Given the description of an element on the screen output the (x, y) to click on. 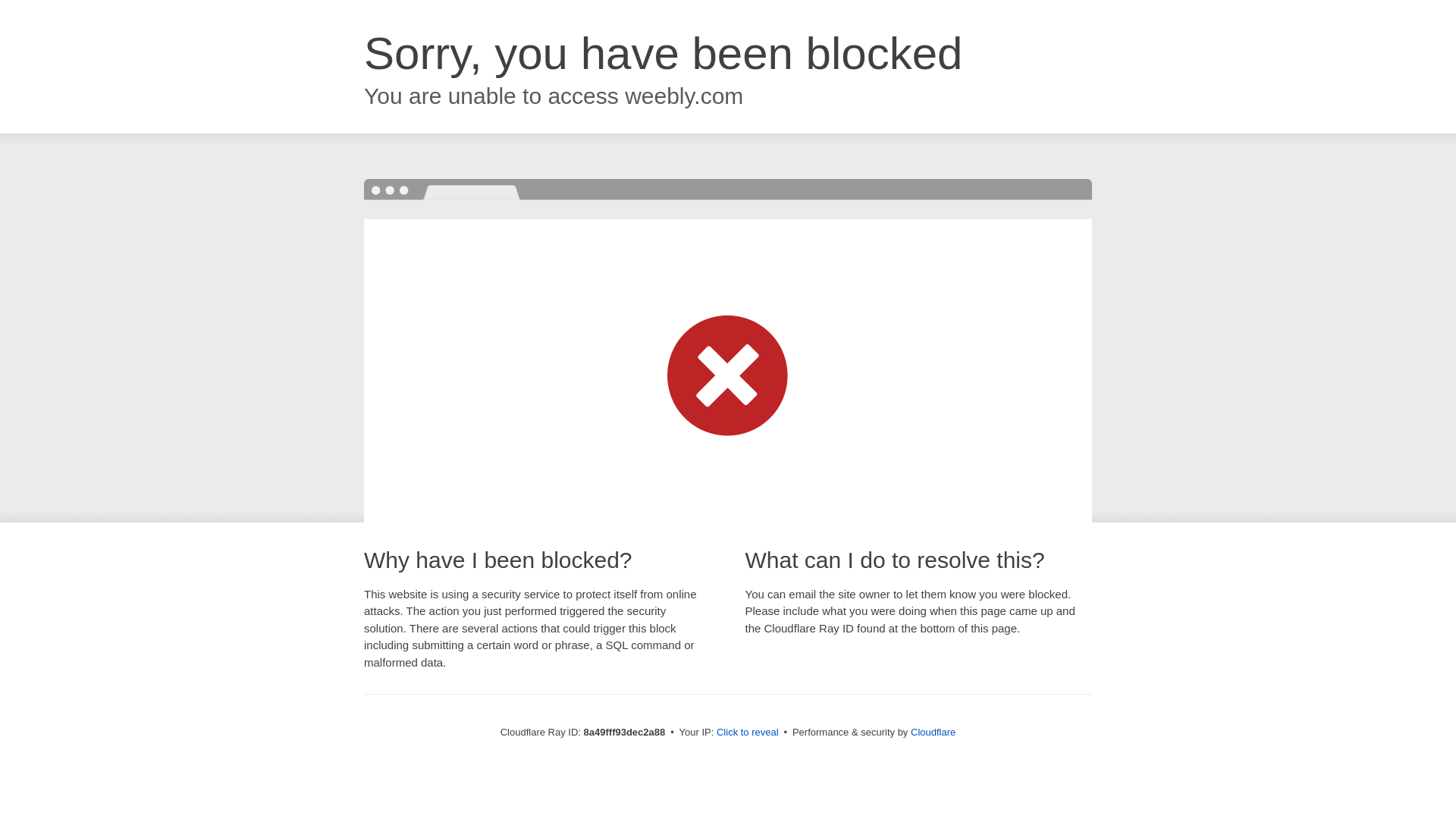
Click to reveal (747, 732)
Cloudflare (933, 731)
